Given the description of an element on the screen output the (x, y) to click on. 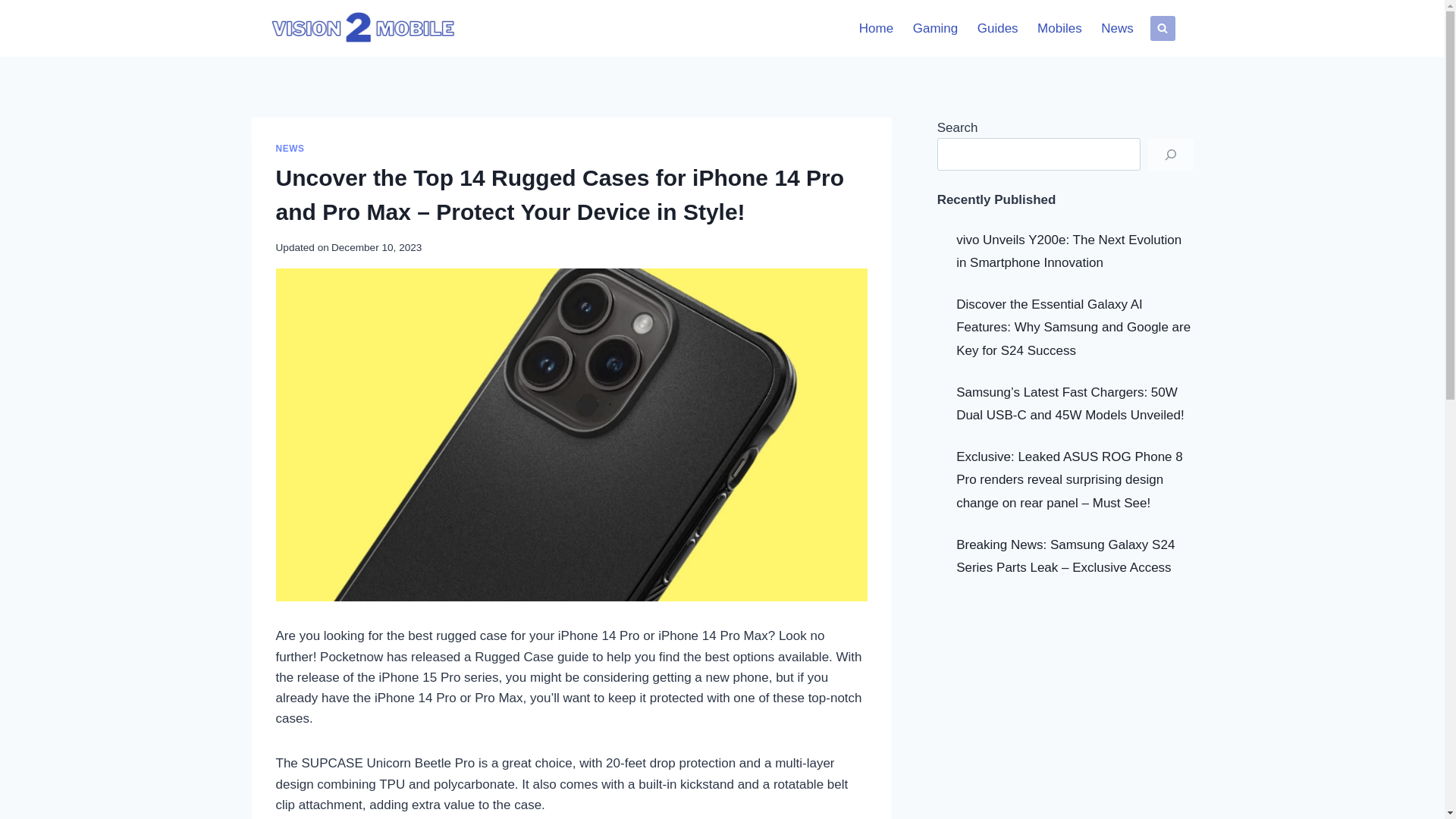
NEWS (290, 148)
News (1116, 28)
Guides (997, 28)
Home (875, 28)
Gaming (935, 28)
Mobiles (1058, 28)
